Given the description of an element on the screen output the (x, y) to click on. 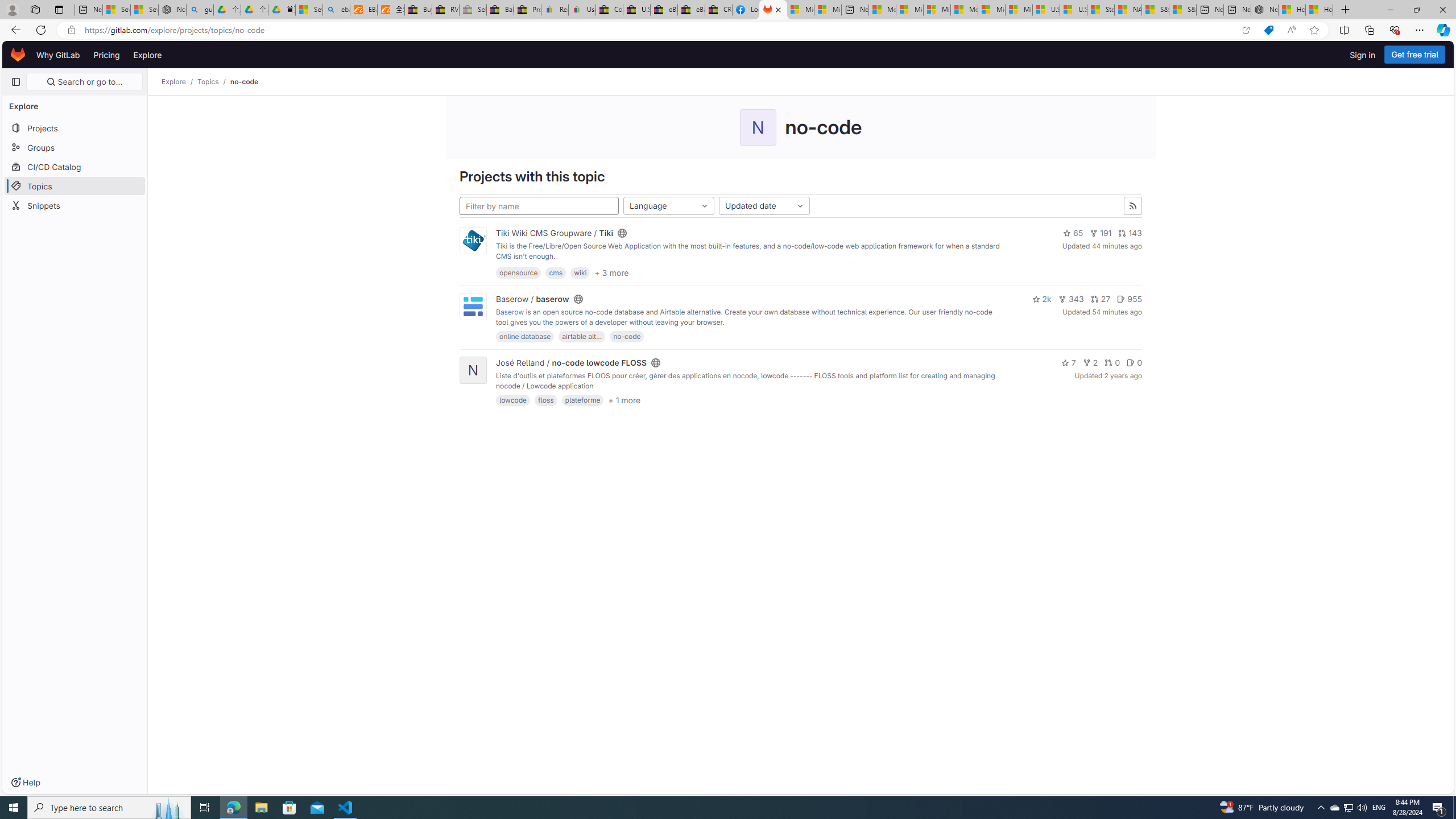
Microsoft account | Home (936, 9)
Topics (74, 185)
airtable alt... (582, 336)
Why GitLab (58, 54)
lowcode (512, 399)
Snippets (74, 205)
Updated date (764, 205)
